Given the description of an element on the screen output the (x, y) to click on. 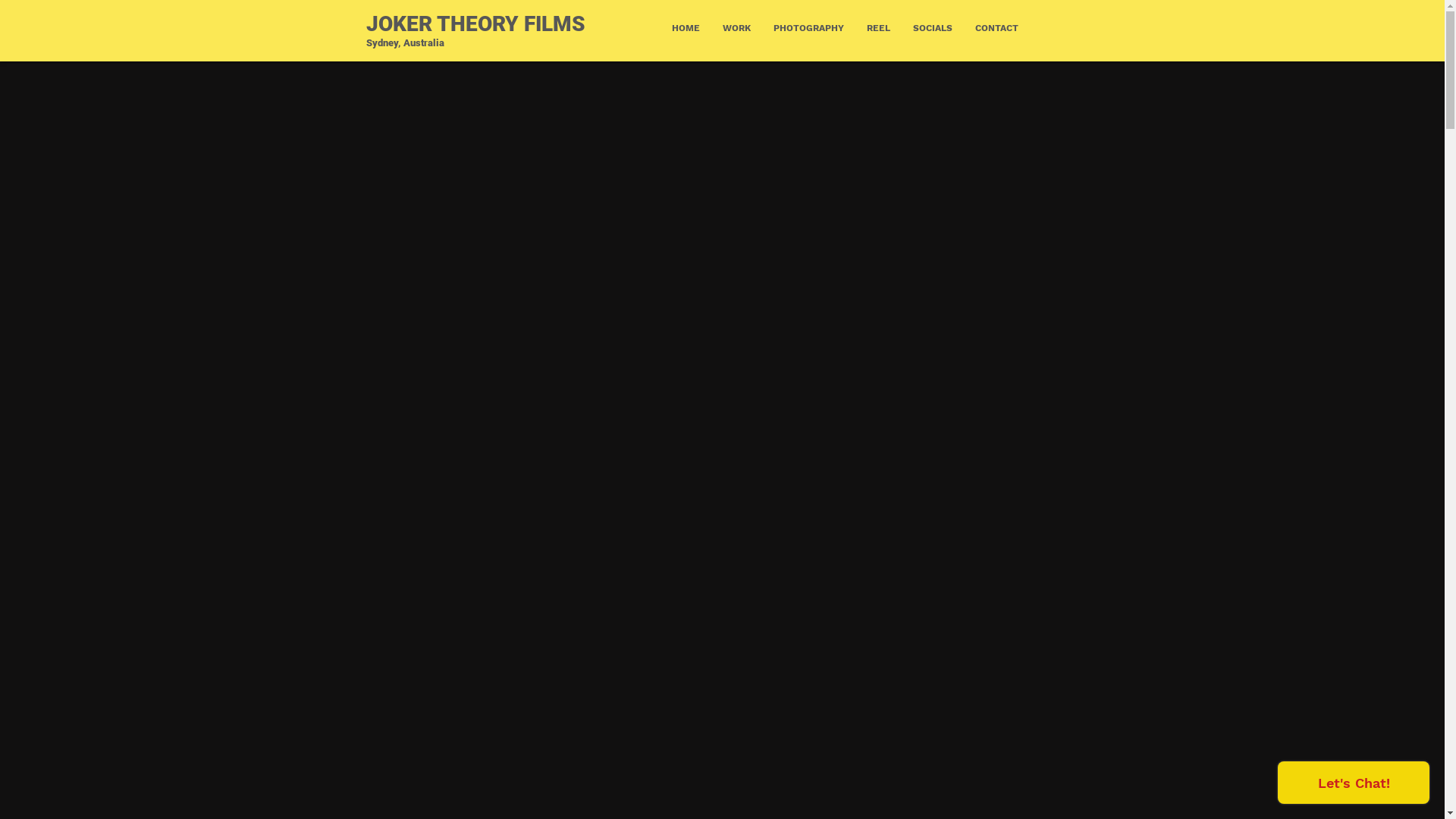
REEL Element type: text (878, 23)
WORK Element type: text (736, 23)
PHOTOGRAPHY Element type: text (807, 23)
CONTACT Element type: text (996, 23)
SOCIALS Element type: text (931, 23)
HOME Element type: text (684, 23)
